Given the description of an element on the screen output the (x, y) to click on. 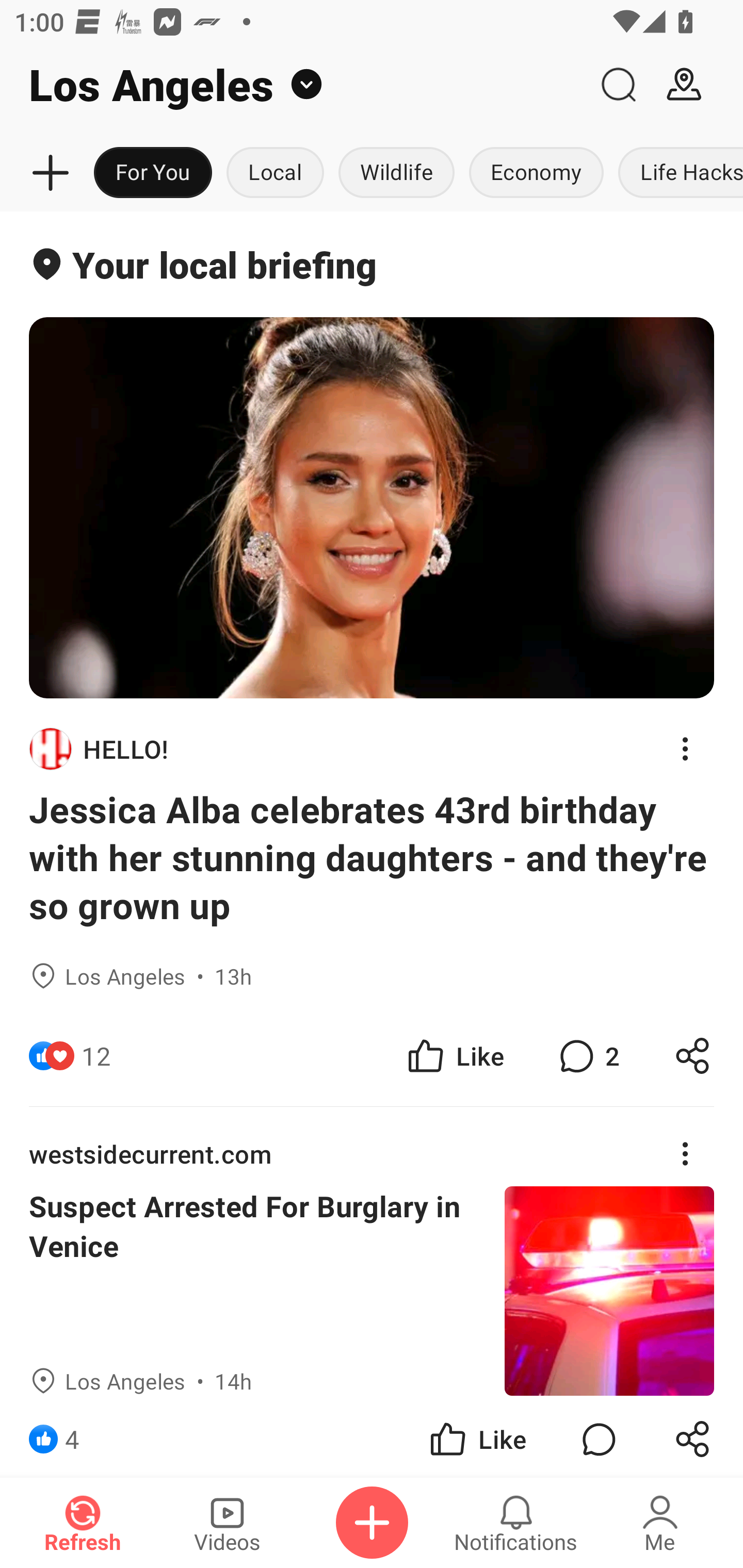
Los Angeles (292, 84)
For You (152, 172)
Local (275, 172)
Wildlife (396, 172)
Economy (536, 172)
Life Hacks (676, 172)
12 (95, 1055)
Like (454, 1055)
2 (587, 1055)
4 (72, 1436)
Like (476, 1436)
Videos (227, 1522)
Notifications (516, 1522)
Me (659, 1522)
